Given the description of an element on the screen output the (x, y) to click on. 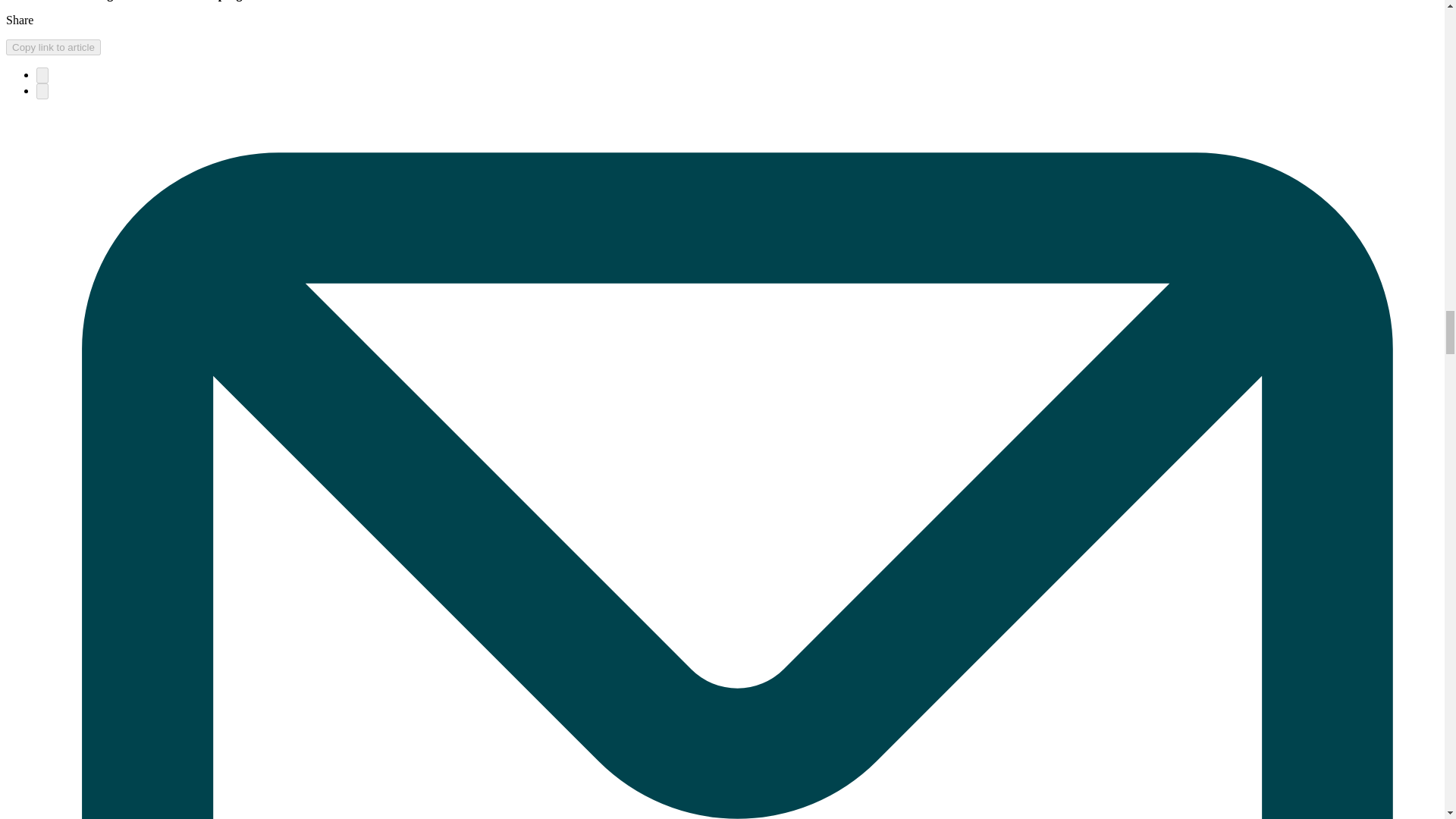
Copy link to article (52, 47)
